Given the description of an element on the screen output the (x, y) to click on. 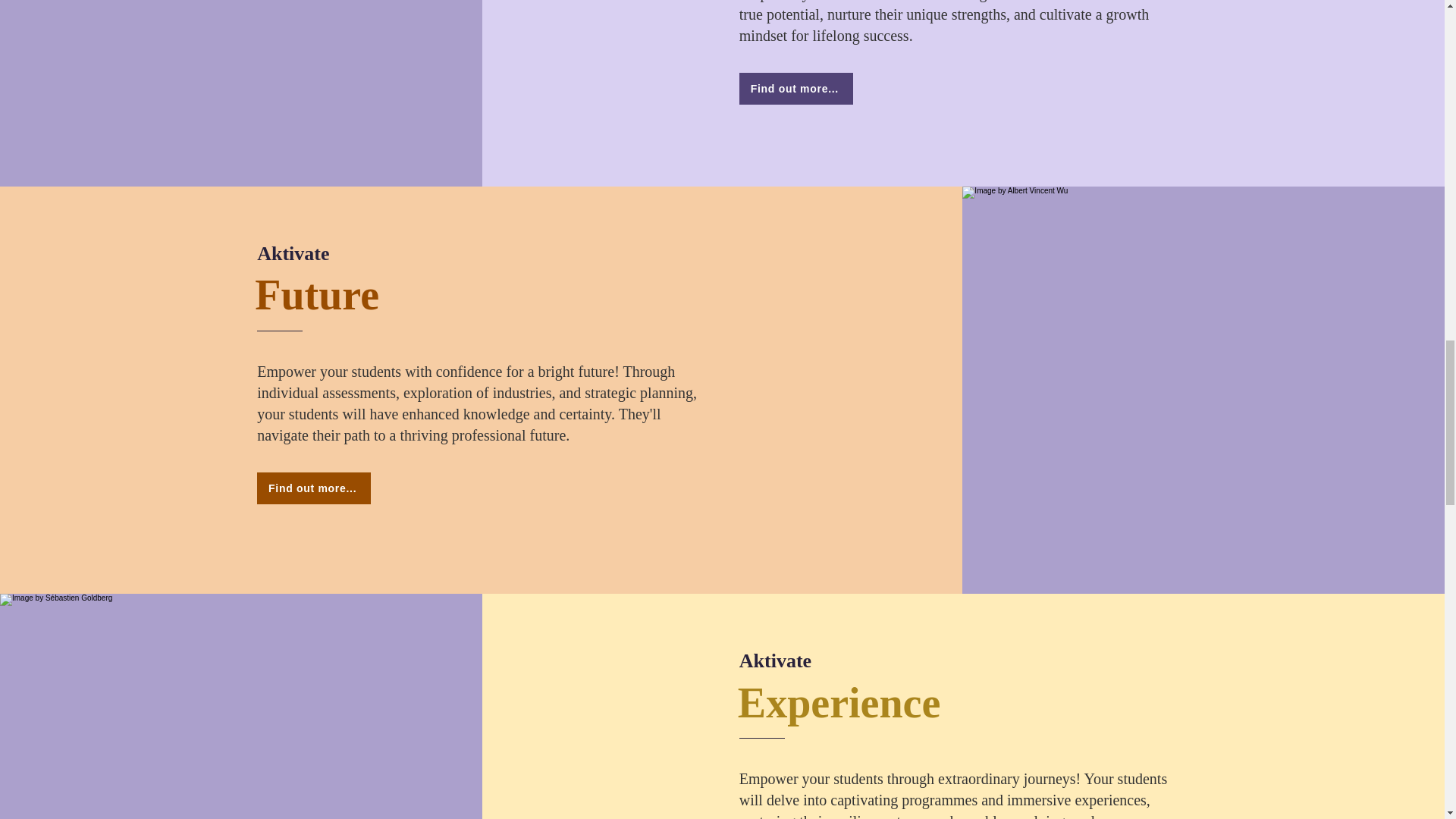
Find out more... (314, 488)
Find out more... (796, 88)
